Given the description of an element on the screen output the (x, y) to click on. 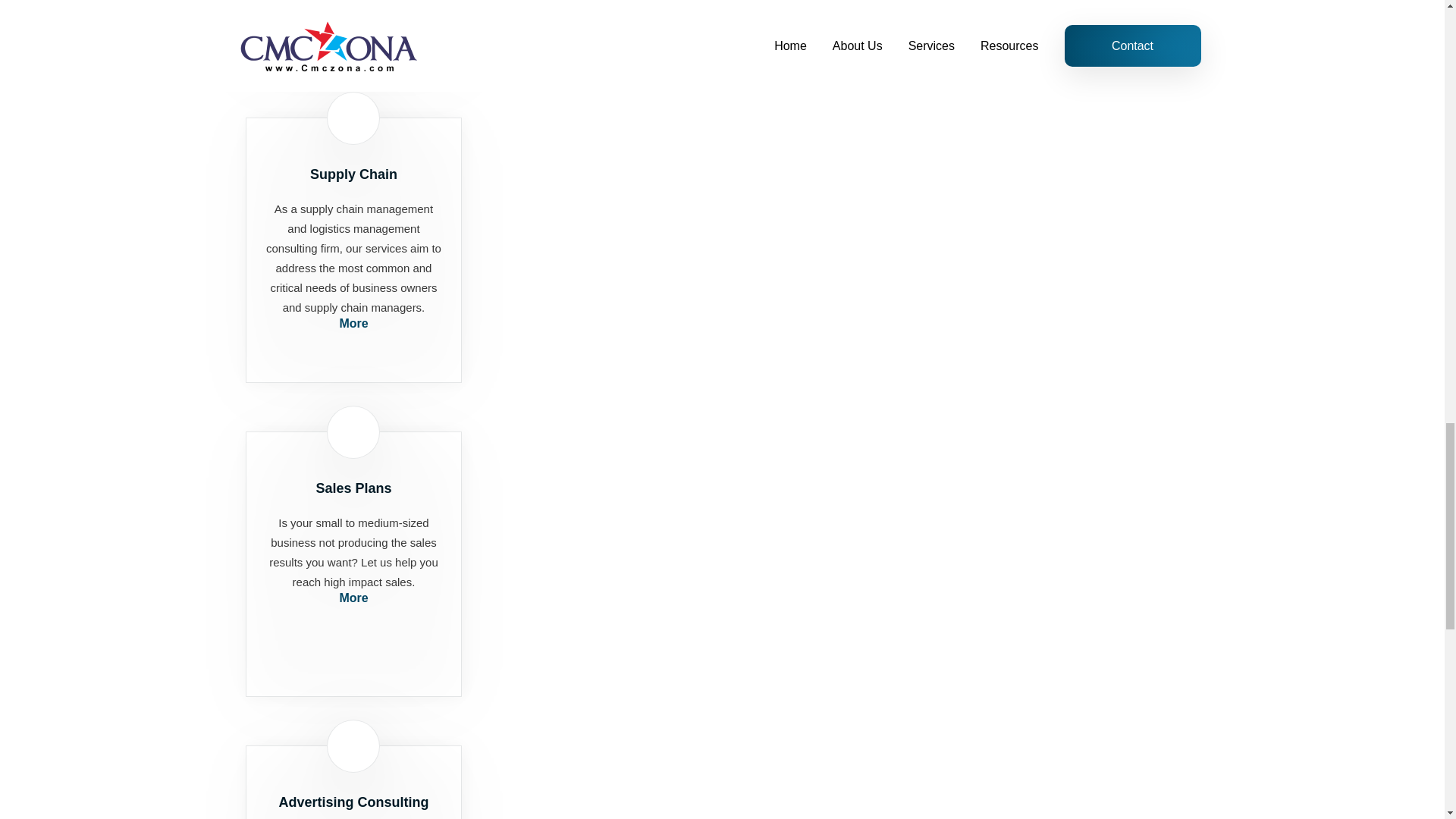
More (353, 598)
More (353, 9)
More (353, 323)
